Given the description of an element on the screen output the (x, y) to click on. 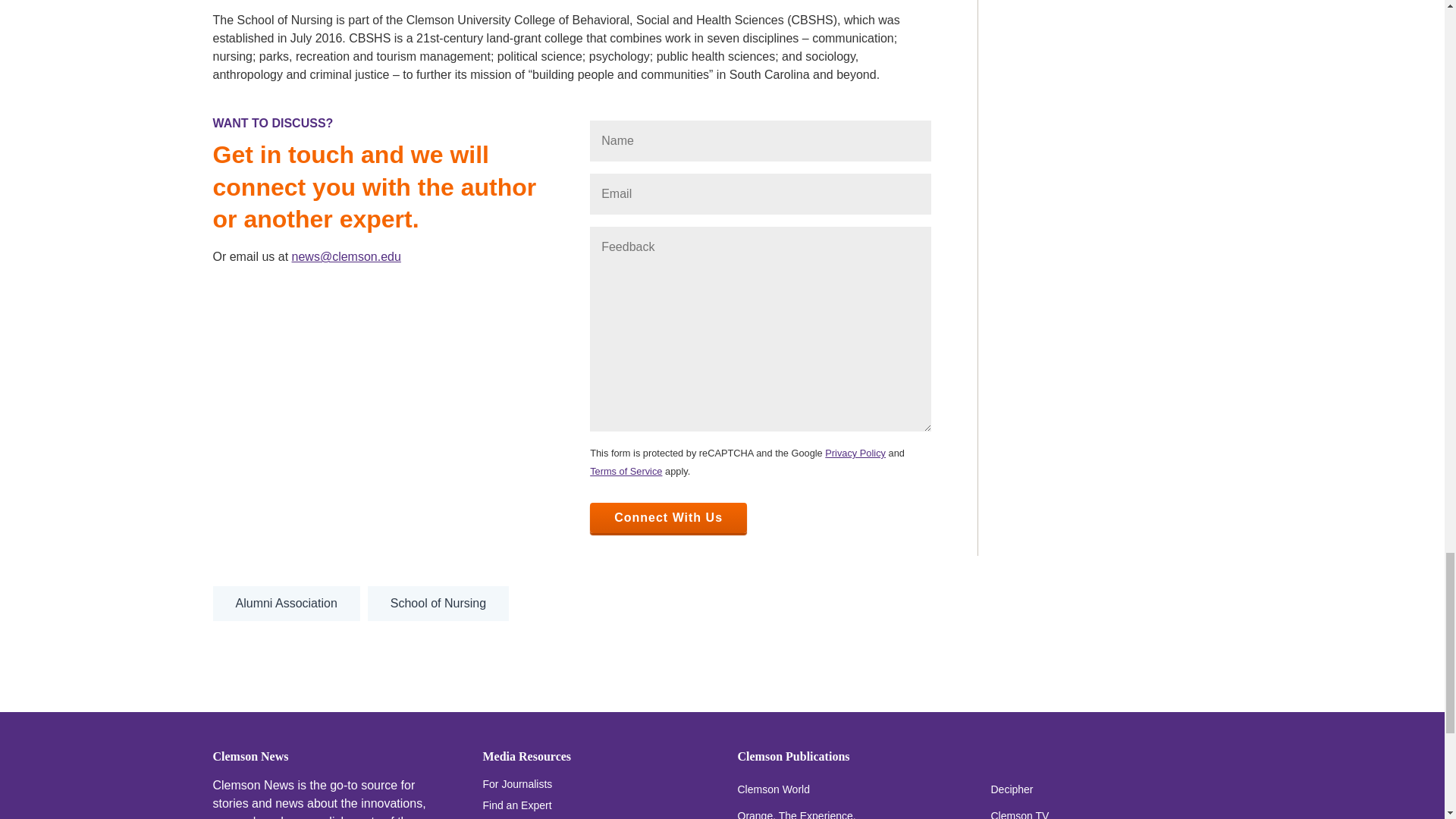
Connect With Us (667, 517)
